Given the description of an element on the screen output the (x, y) to click on. 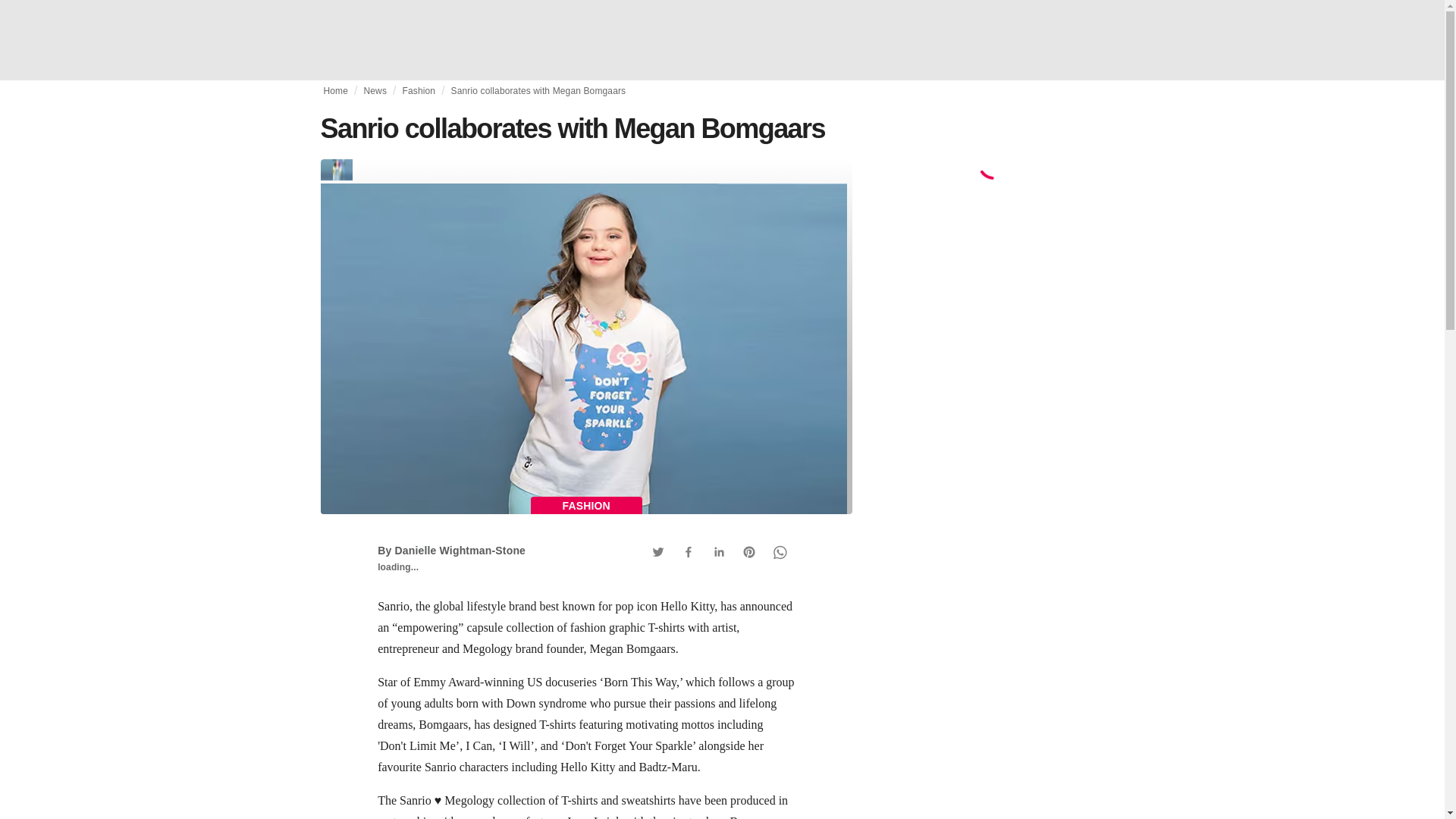
Home (335, 90)
By Danielle Wightman-Stone (451, 550)
News (375, 90)
Sanrio collaborates with Megan Bomgaars (538, 90)
Fashion (418, 90)
